Given the description of an element on the screen output the (x, y) to click on. 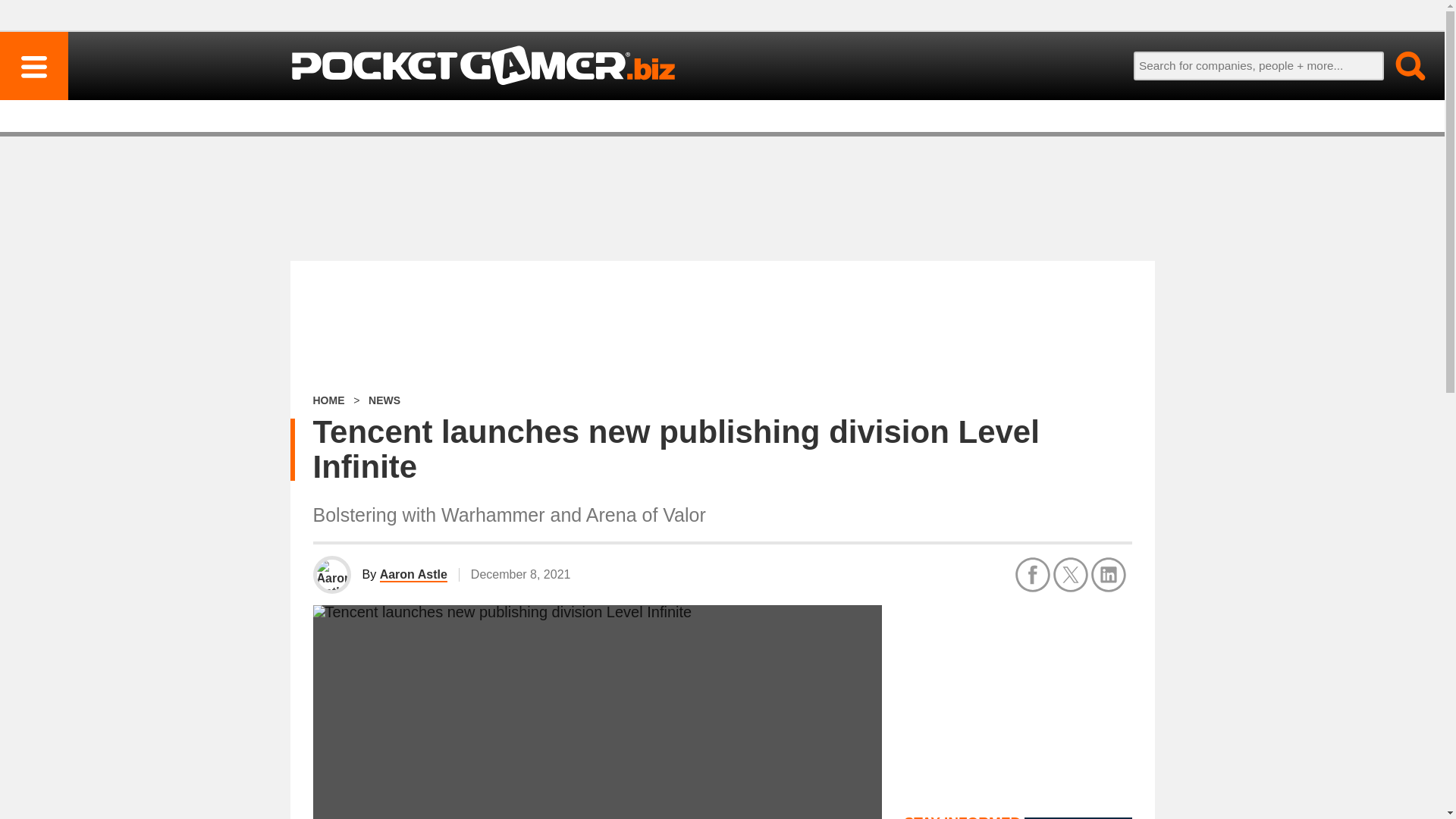
NEWS (384, 400)
Go (1402, 65)
Go (1402, 65)
Aaron Astle (413, 575)
HOME (328, 400)
